Given the description of an element on the screen output the (x, y) to click on. 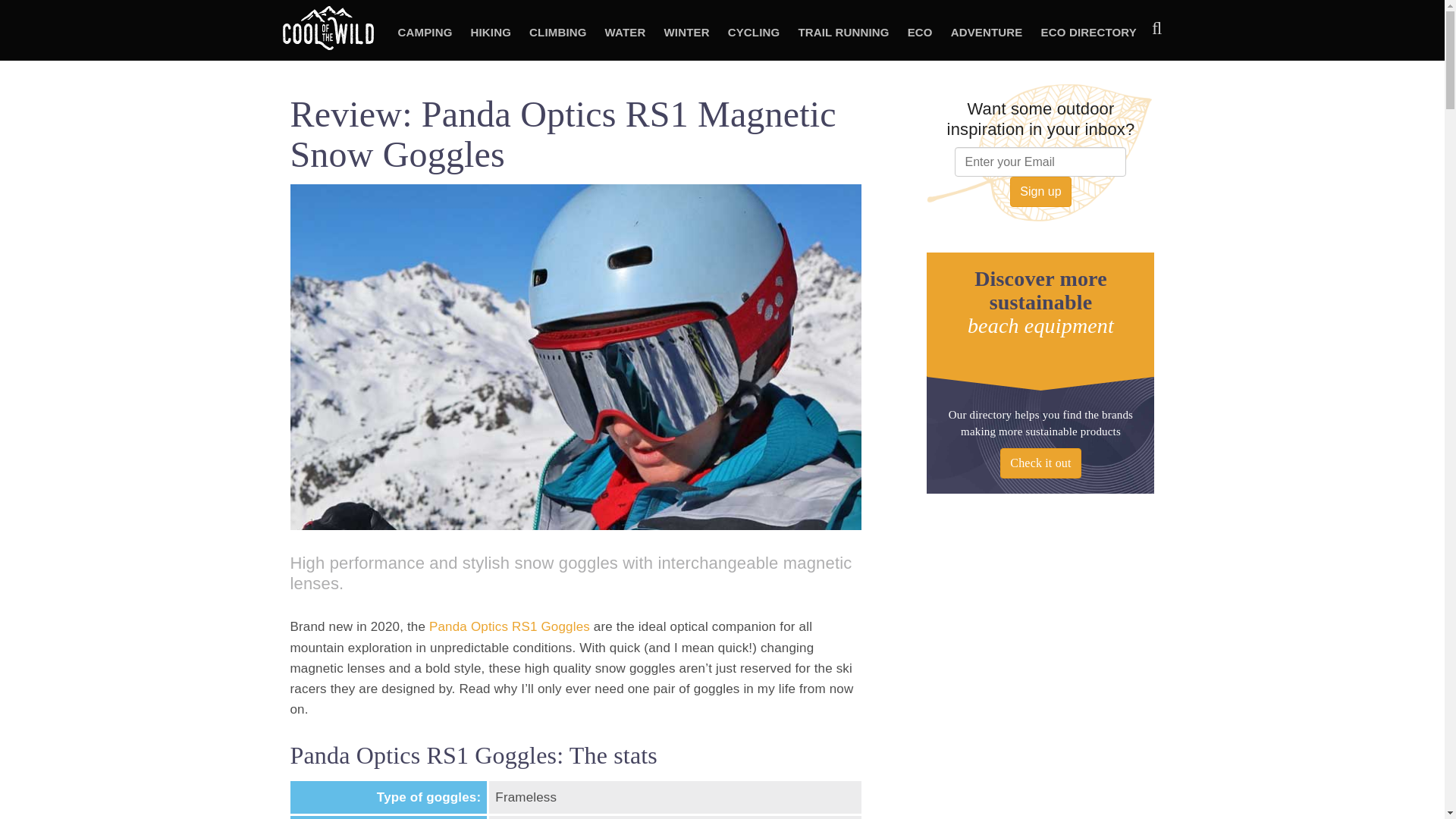
WATER (625, 32)
ADVENTURE (987, 32)
Panda Optics RS1 Goggles (509, 626)
CAMPING (424, 32)
HIKING (491, 32)
ECO DIRECTORY (1088, 32)
CYCLING (754, 32)
WINTER (687, 32)
CLIMBING (557, 32)
TRAIL RUNNING (843, 32)
